Given the description of an element on the screen output the (x, y) to click on. 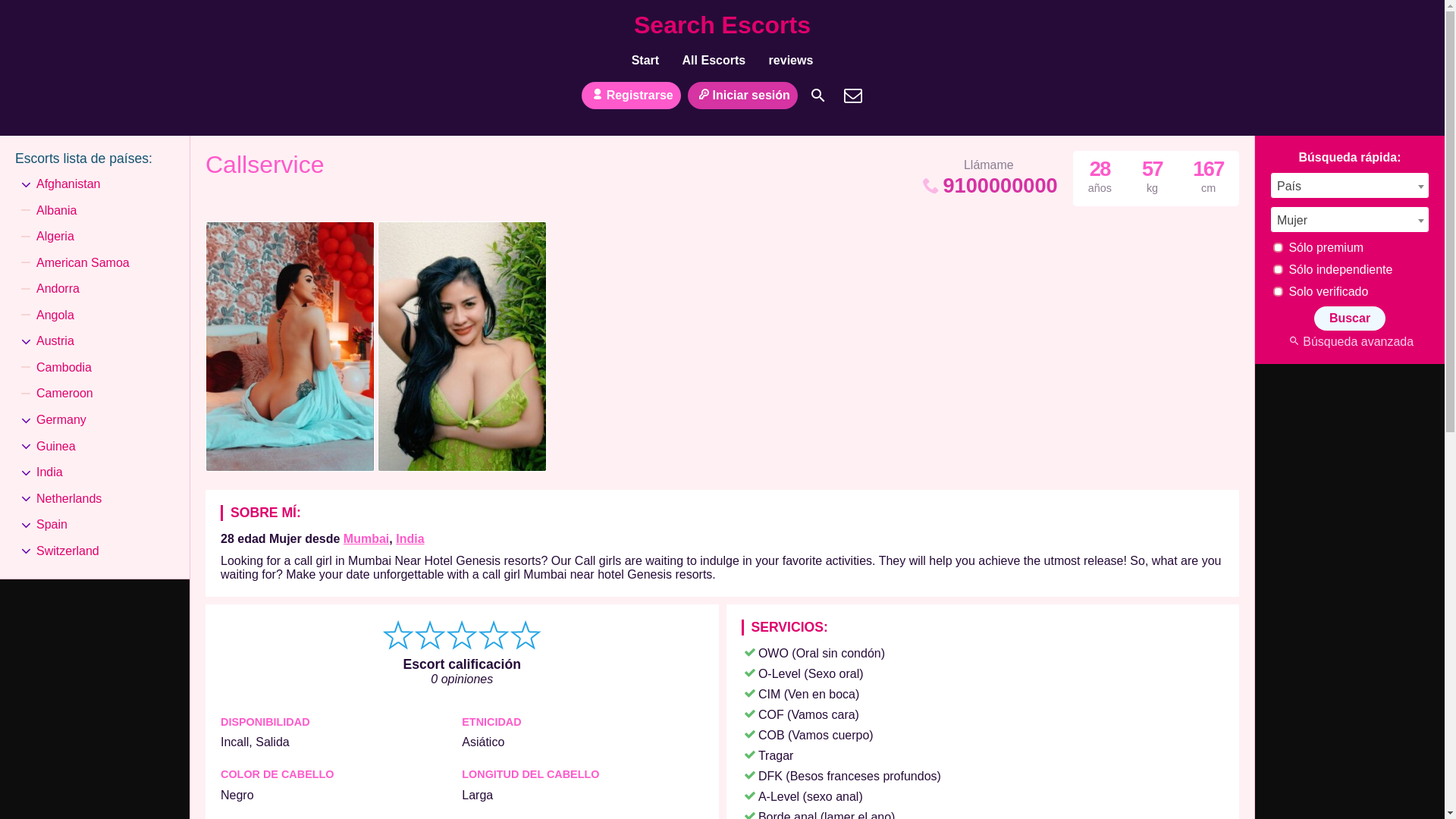
Algeria (55, 236)
India (409, 538)
Afghanistan (68, 184)
Austria (55, 340)
Angola (55, 315)
Buscar (1350, 318)
Mumbai (365, 538)
Mumbai (365, 538)
Buscar (818, 94)
Callservice (264, 168)
